Given the description of an element on the screen output the (x, y) to click on. 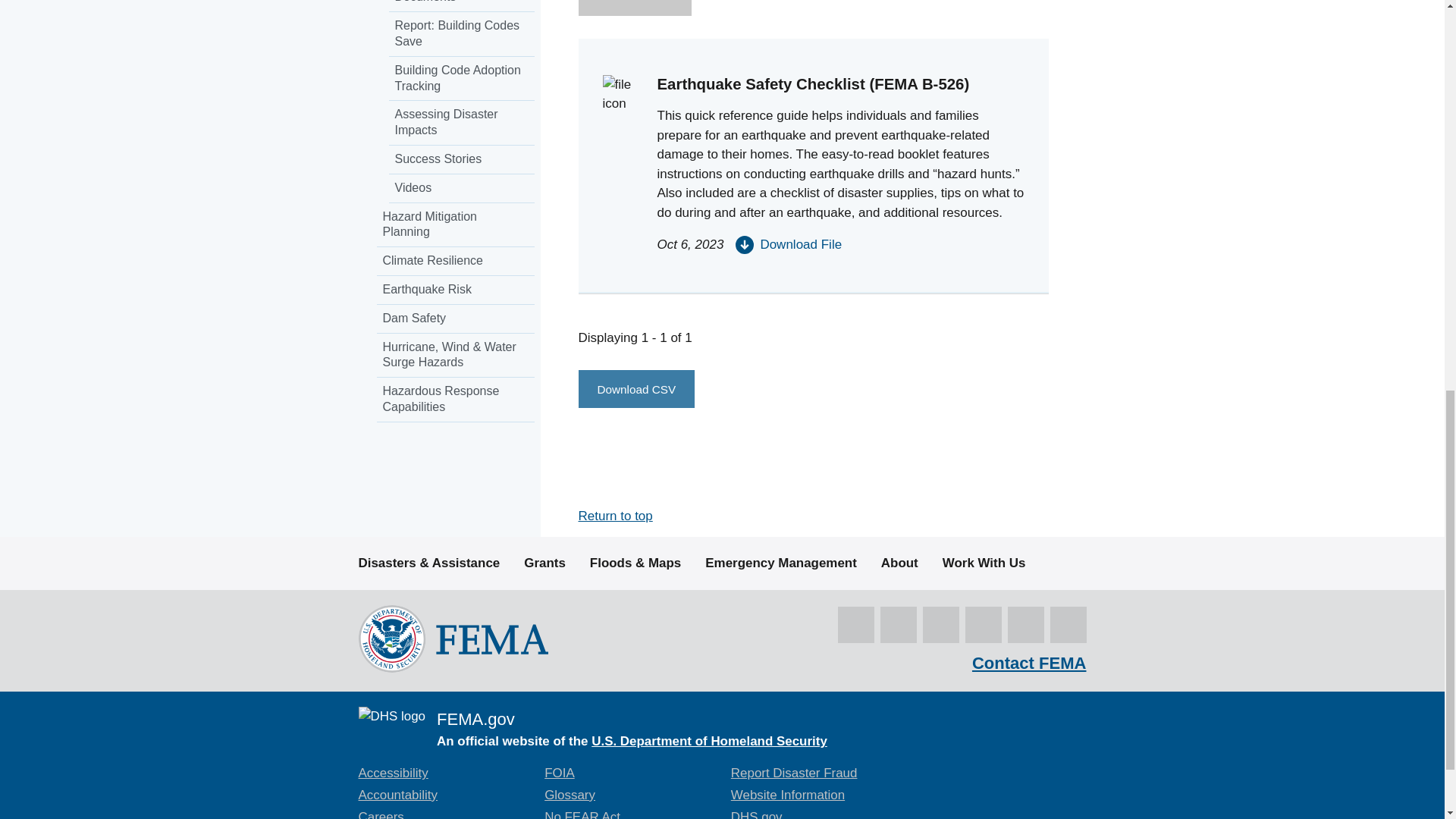
Search Media (634, 7)
FEMA logo (452, 638)
National Terrorism Advisory System (1021, 762)
